Given the description of an element on the screen output the (x, y) to click on. 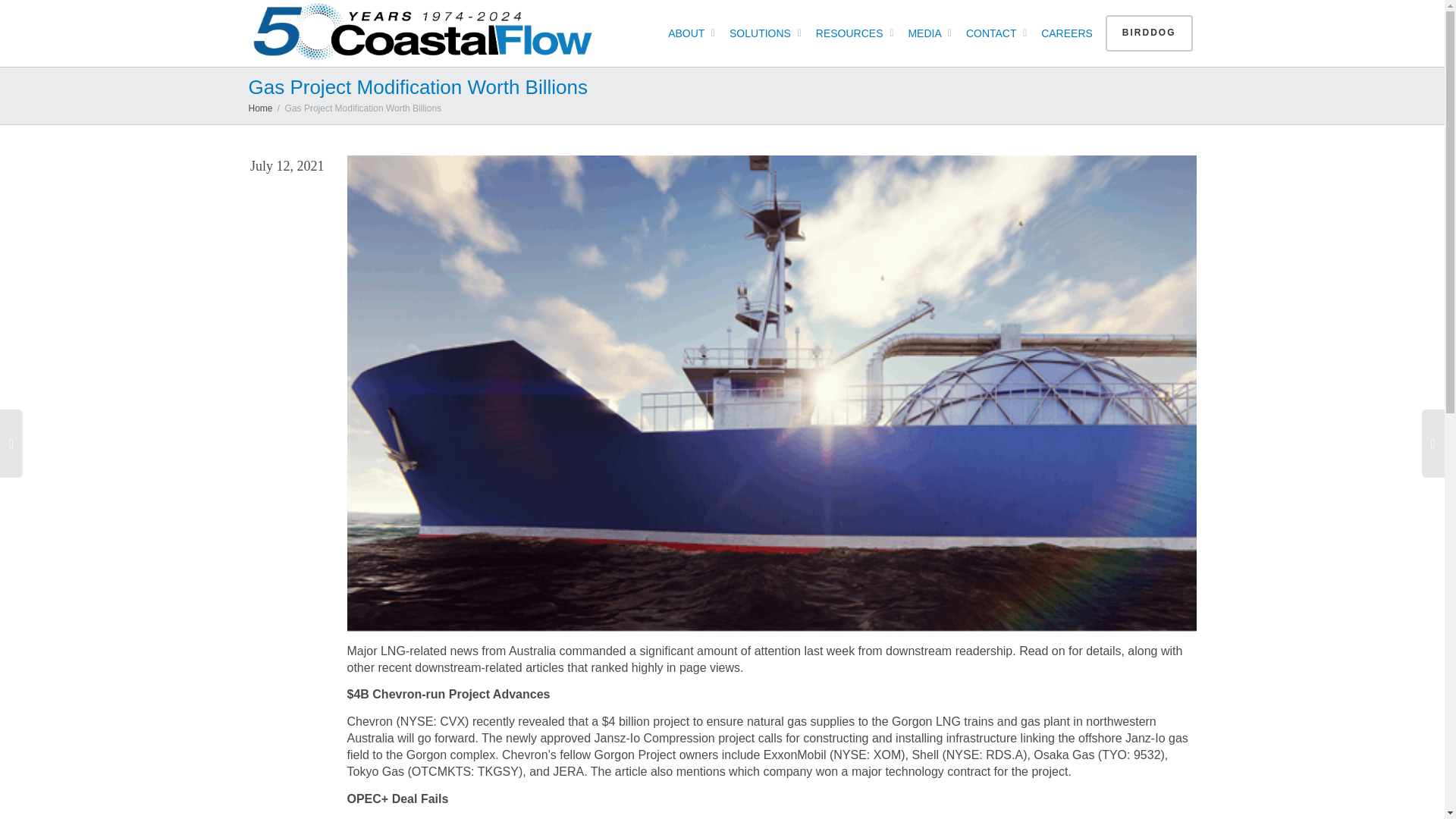
SOLUTIONS (763, 33)
Coastal Flow Measurement (427, 32)
RESOURCES (852, 33)
July 12, 2021 (286, 166)
RESOURCES (852, 33)
Home (260, 108)
BIRDDOG (1148, 33)
SOLUTIONS (763, 33)
